Given the description of an element on the screen output the (x, y) to click on. 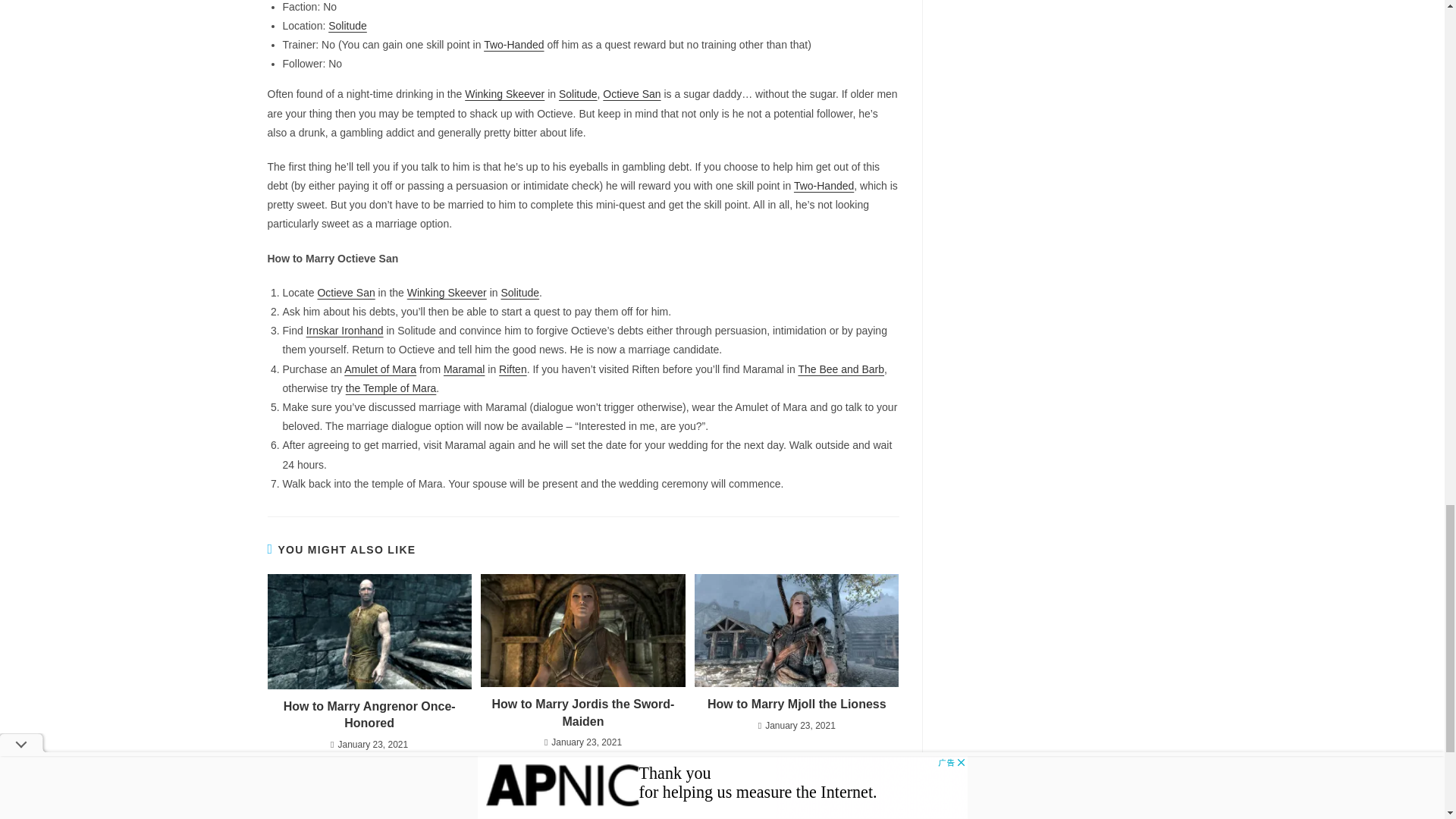
the Temple of Mara (391, 387)
Riften (513, 369)
Two-Handed (823, 185)
How to Marry Angrenor Once-Honored (368, 715)
Winking Skeever (446, 292)
Solitude (577, 93)
Two-Handed (513, 44)
Solitude (347, 25)
Winking Skeever (504, 93)
Amulet of Mara (379, 369)
Solitude (519, 292)
Octieve San (345, 292)
The Bee and Barb (840, 369)
Octieve San (631, 93)
Maramal (464, 369)
